Given the description of an element on the screen output the (x, y) to click on. 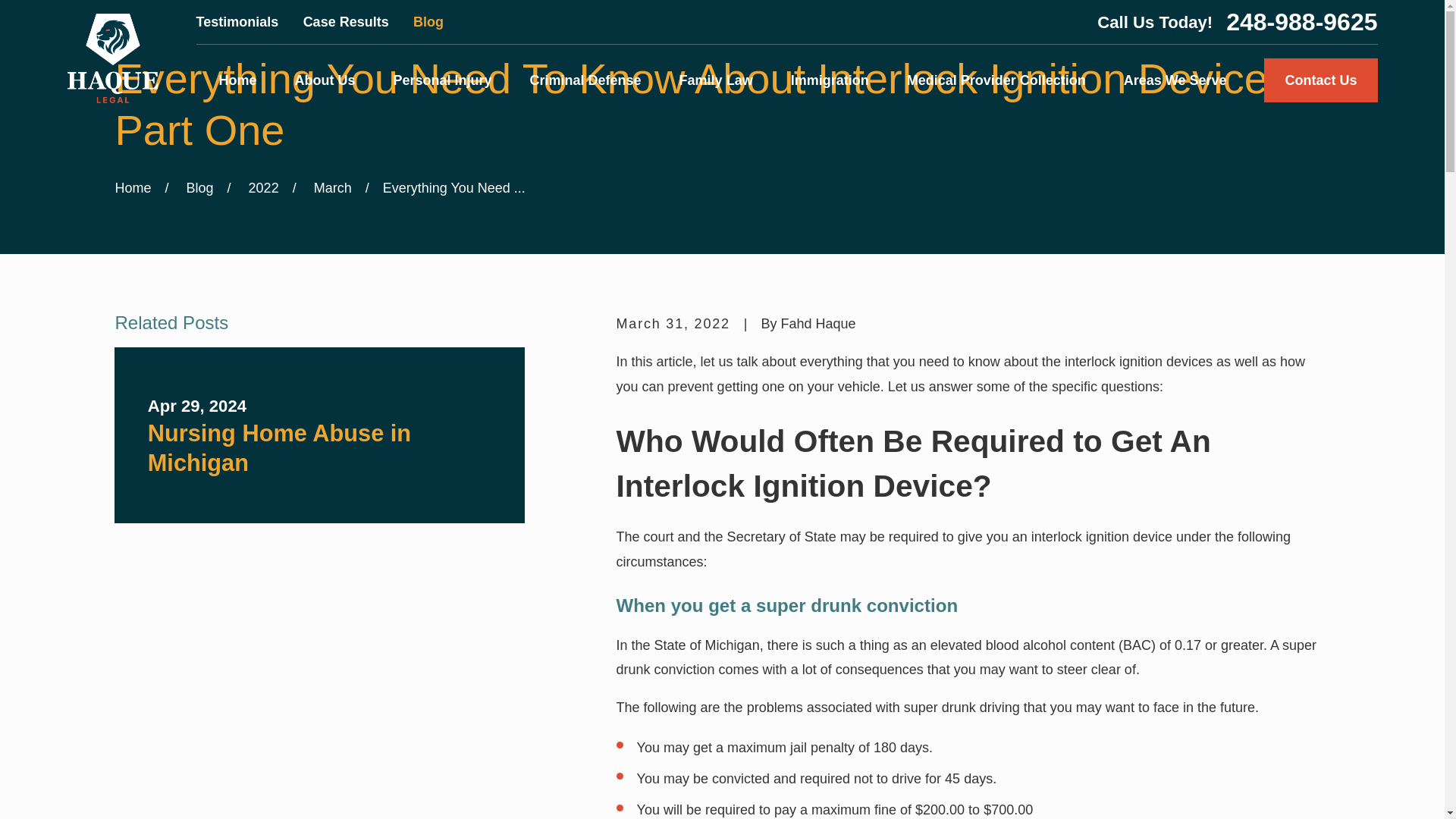
Criminal Defense (585, 80)
Testimonials (237, 21)
Family Law (715, 80)
Blog (428, 21)
About Us (324, 80)
Go Home (133, 187)
Case Results (345, 21)
Personal Injury (442, 80)
248-988-9625 (1301, 21)
